Given the description of an element on the screen output the (x, y) to click on. 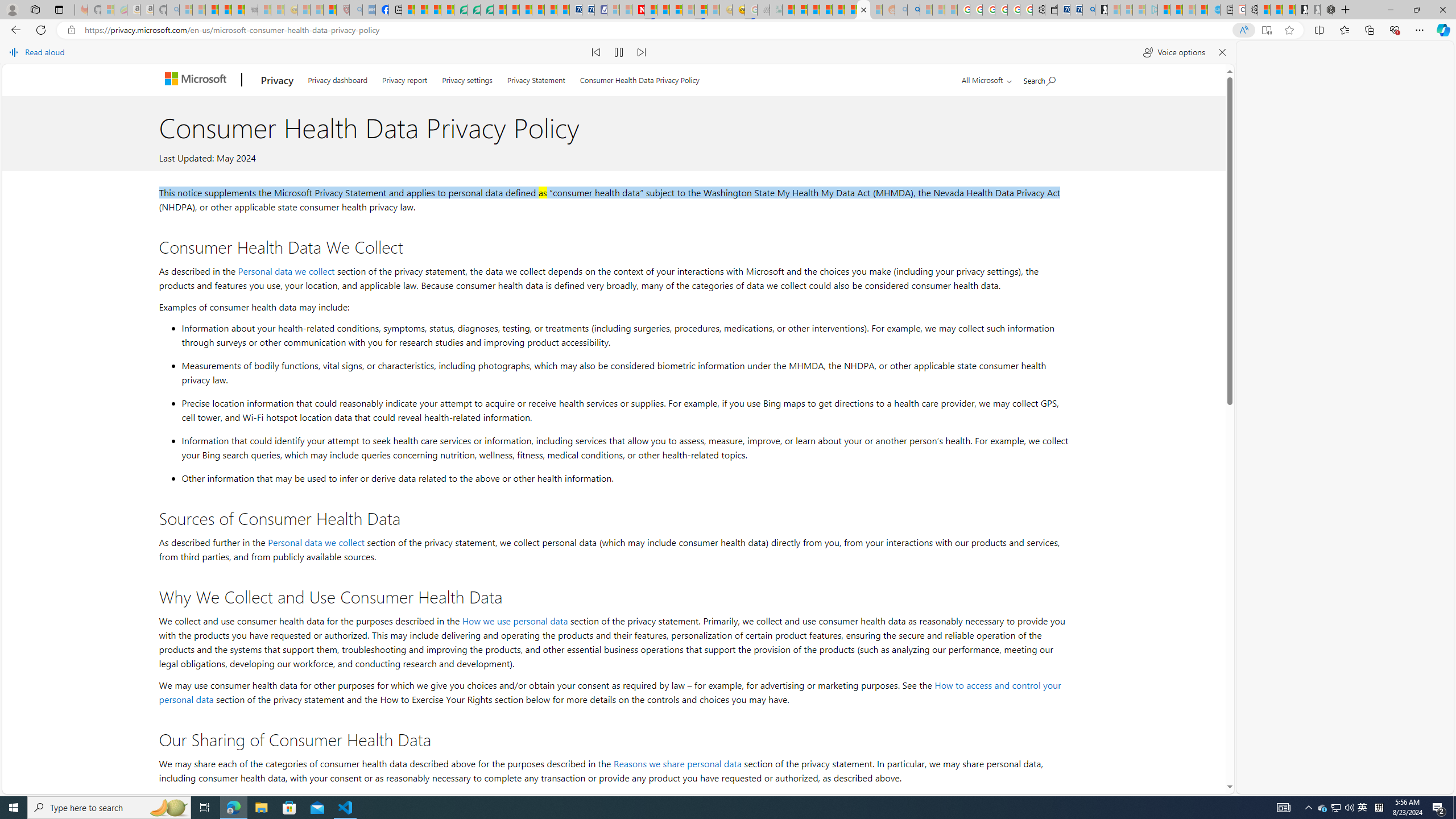
Terms of Use Agreement (473, 9)
Consumer Health Data Privacy Policy (639, 77)
Privacy Statement (536, 77)
